Given the description of an element on the screen output the (x, y) to click on. 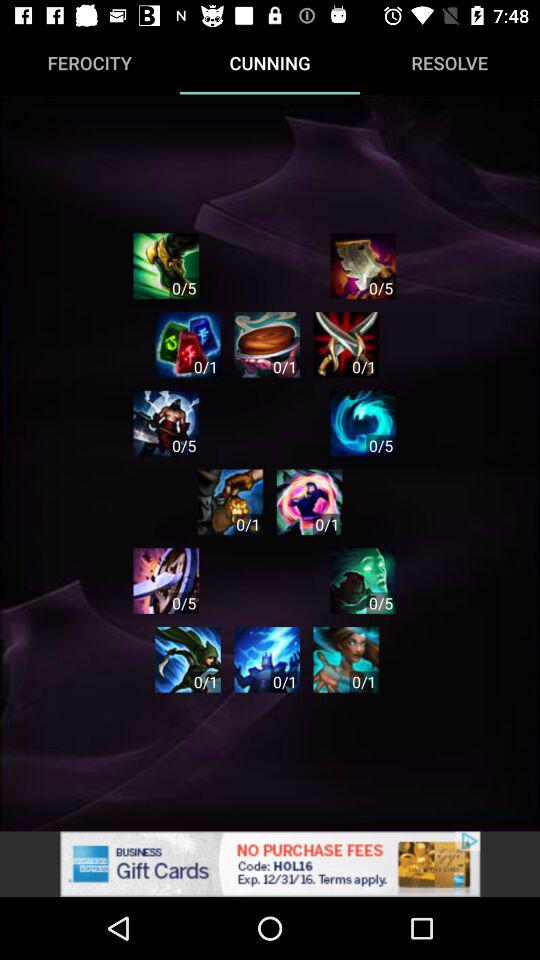
game level (166, 580)
